Given the description of an element on the screen output the (x, y) to click on. 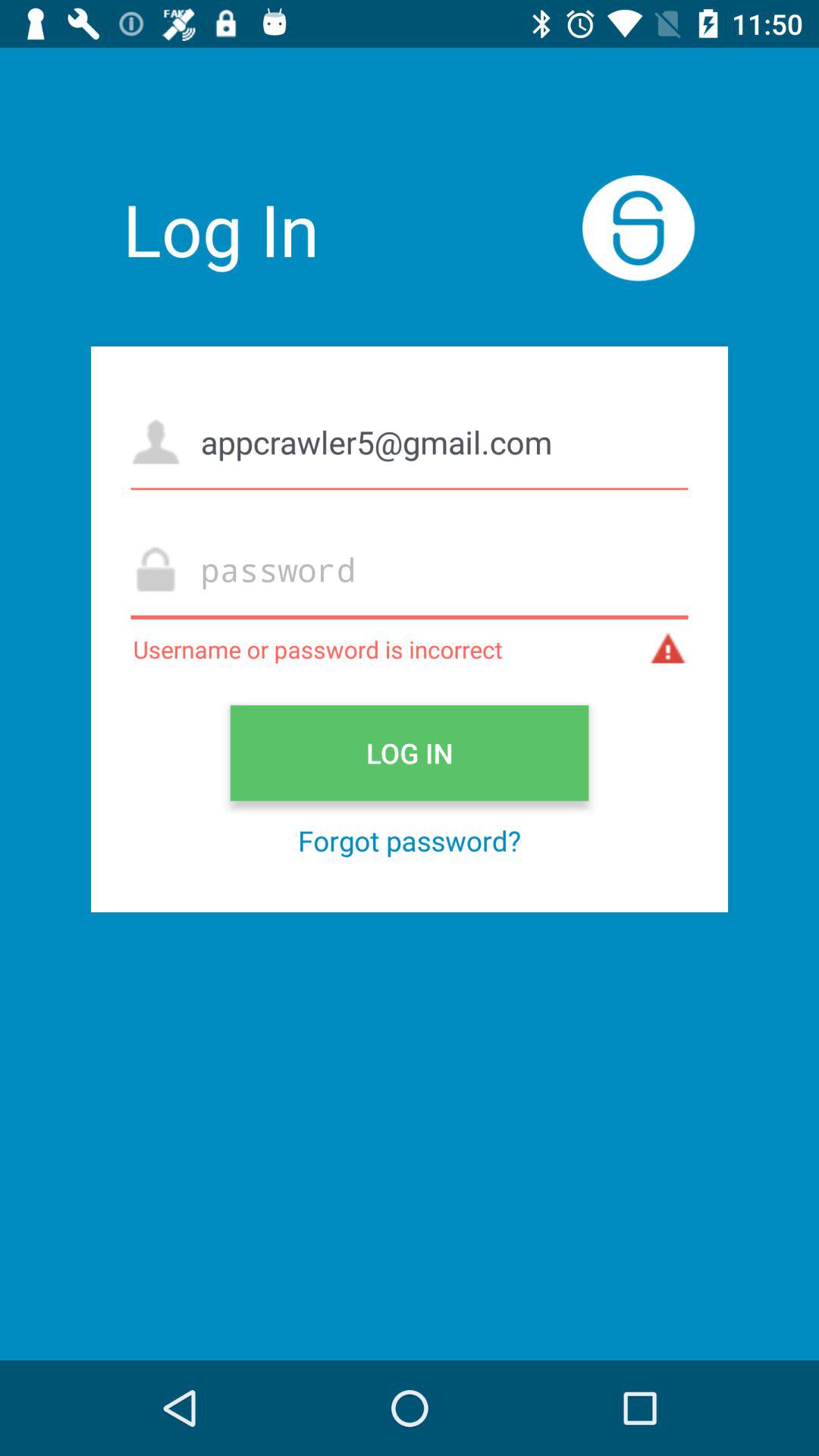
select forgot password? icon (409, 840)
